Given the description of an element on the screen output the (x, y) to click on. 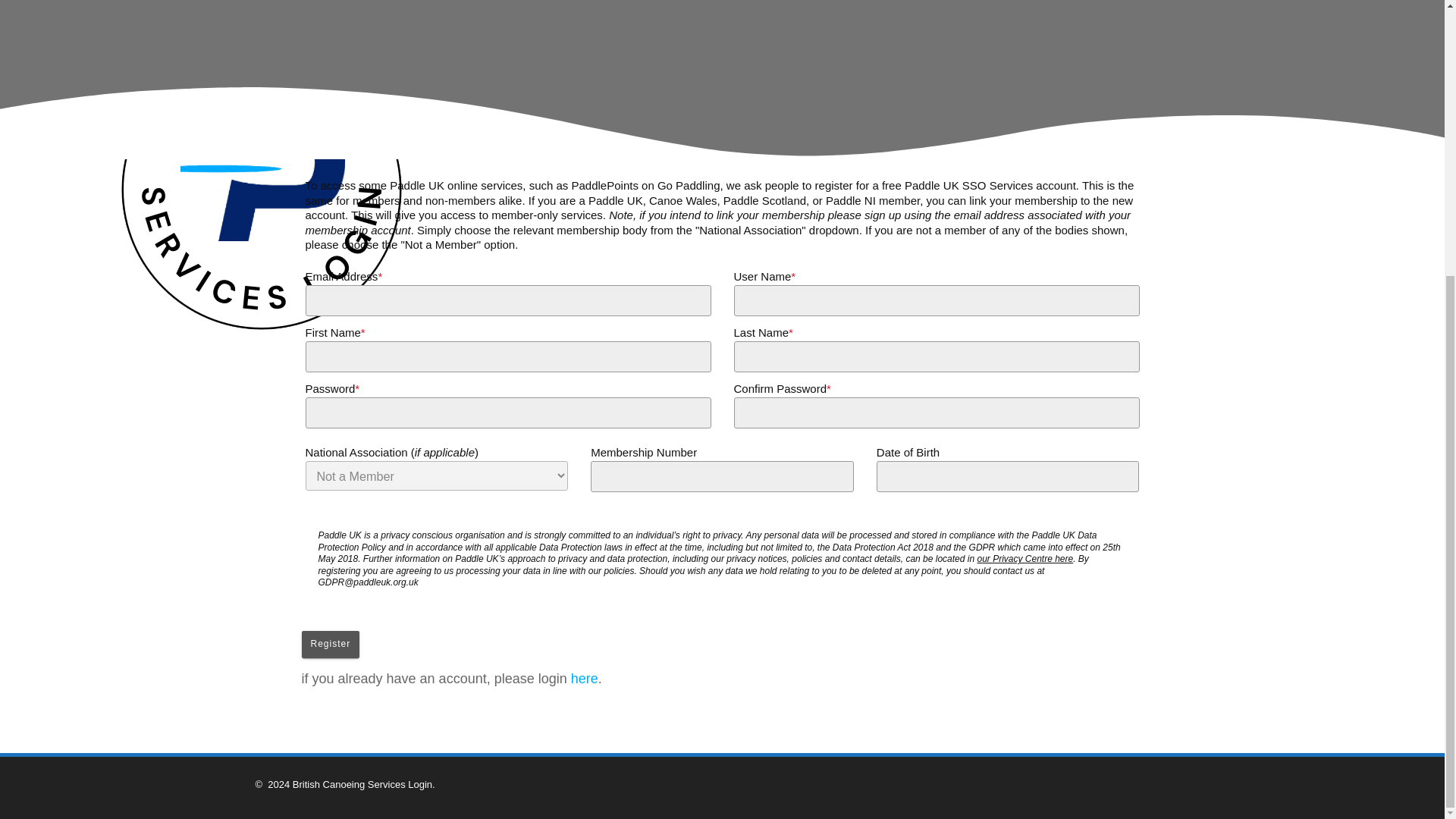
Register (330, 644)
our Privacy Centre here (1024, 558)
here (584, 678)
Paddle UK Privacy Policy (1024, 558)
